Given the description of an element on the screen output the (x, y) to click on. 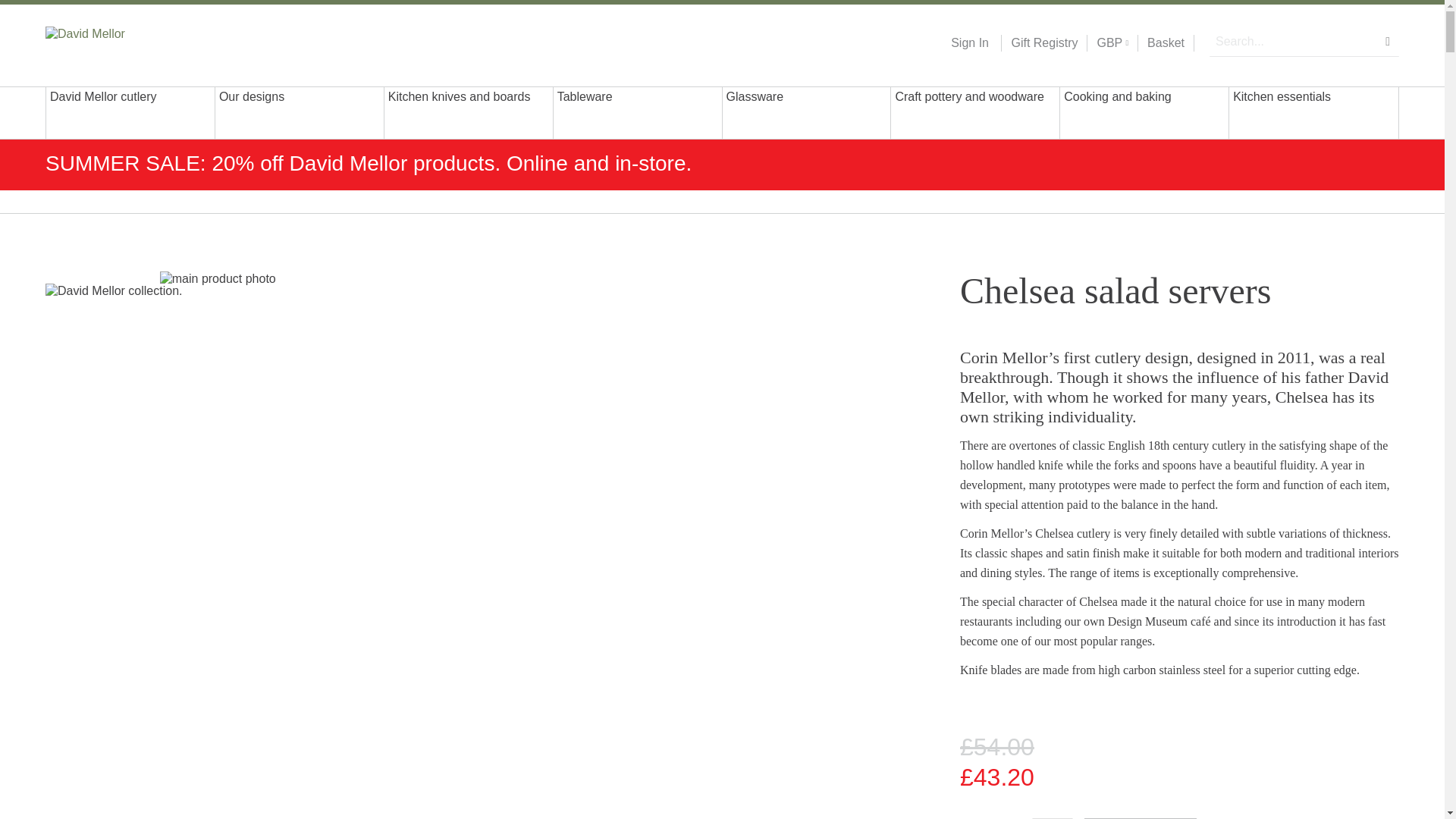
Basket (1166, 43)
Sign In (969, 43)
Gift Registry (1039, 43)
Qty (1052, 818)
Search (1388, 41)
1 (1052, 818)
David Mellor cutlery (130, 112)
David Mellor (143, 42)
Search (1388, 41)
